Given the description of an element on the screen output the (x, y) to click on. 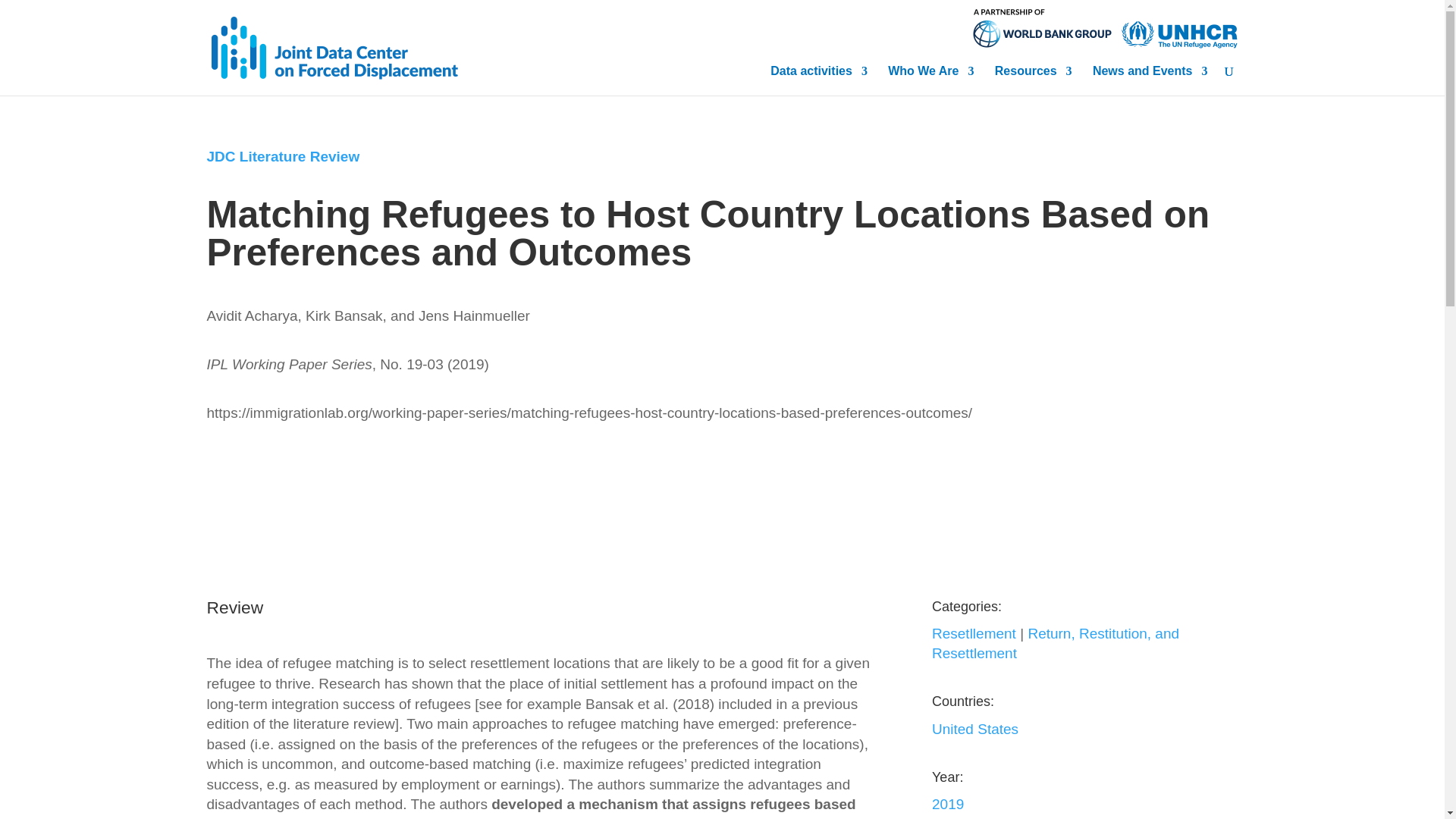
Who We Are (931, 76)
News and Events (1150, 76)
Resources (1032, 76)
Resetllement (973, 633)
United States (974, 729)
Data activities (818, 76)
Return, Restitution, and Resettlement (1055, 643)
2019 (947, 804)
JDC Literature Review (282, 156)
